Given the description of an element on the screen output the (x, y) to click on. 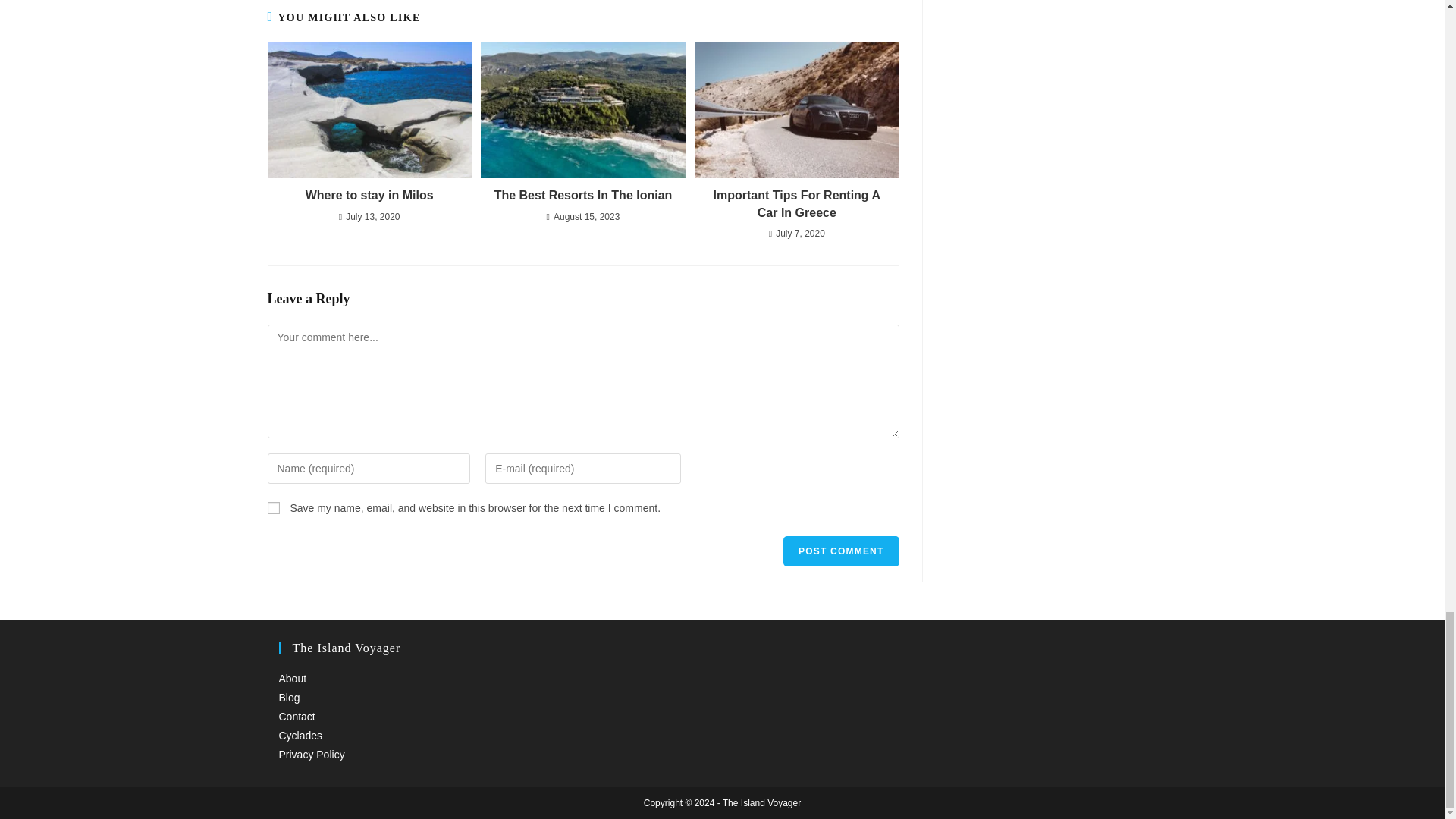
yes (272, 508)
Post Comment (840, 551)
The Best Resorts In The Ionian (582, 195)
Important Tips For Renting A Car In Greece (796, 204)
Where to stay in Milos (368, 195)
Post Comment (840, 551)
